Given the description of an element on the screen output the (x, y) to click on. 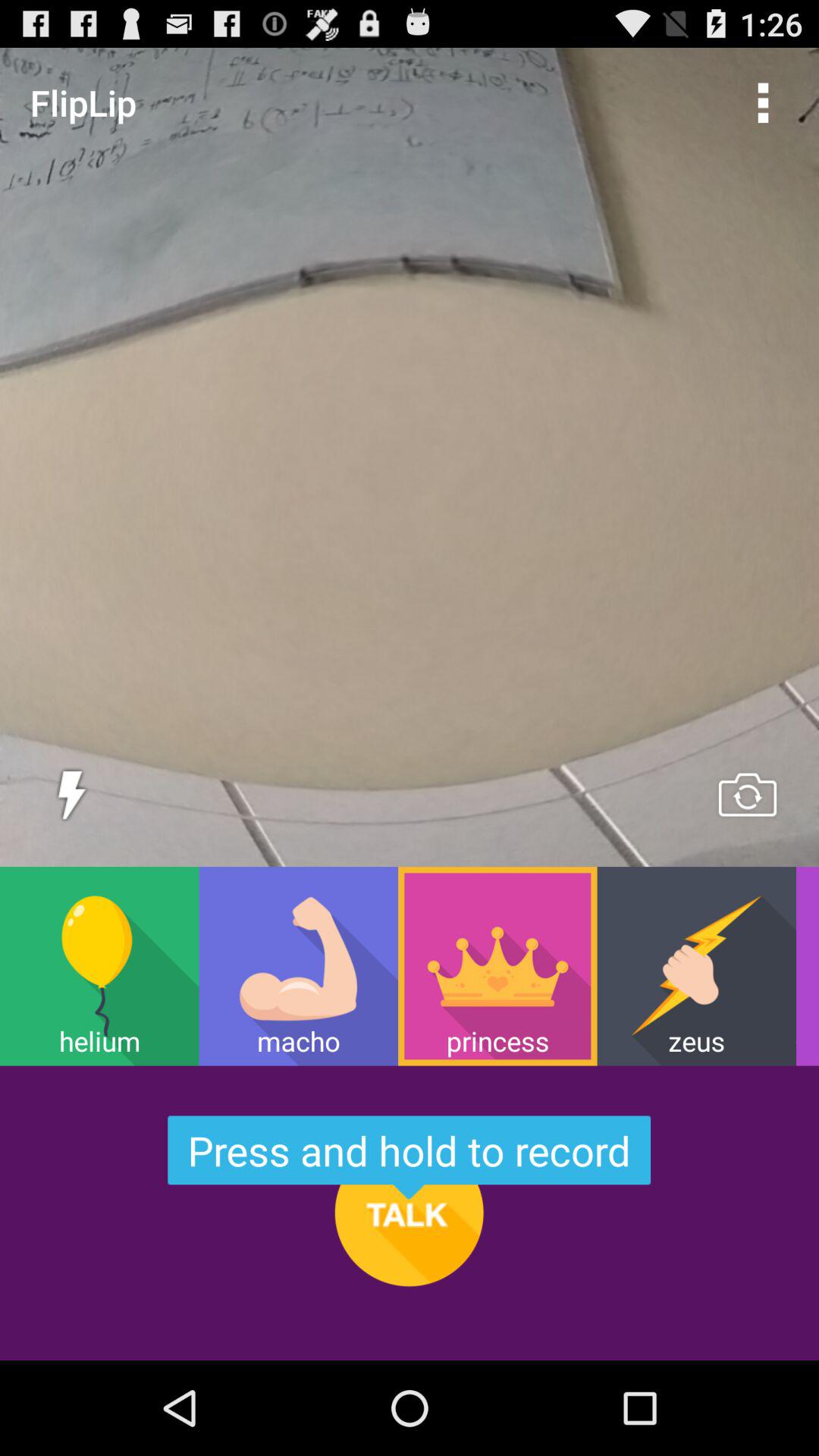
flip to the princess (497, 965)
